Given the description of an element on the screen output the (x, y) to click on. 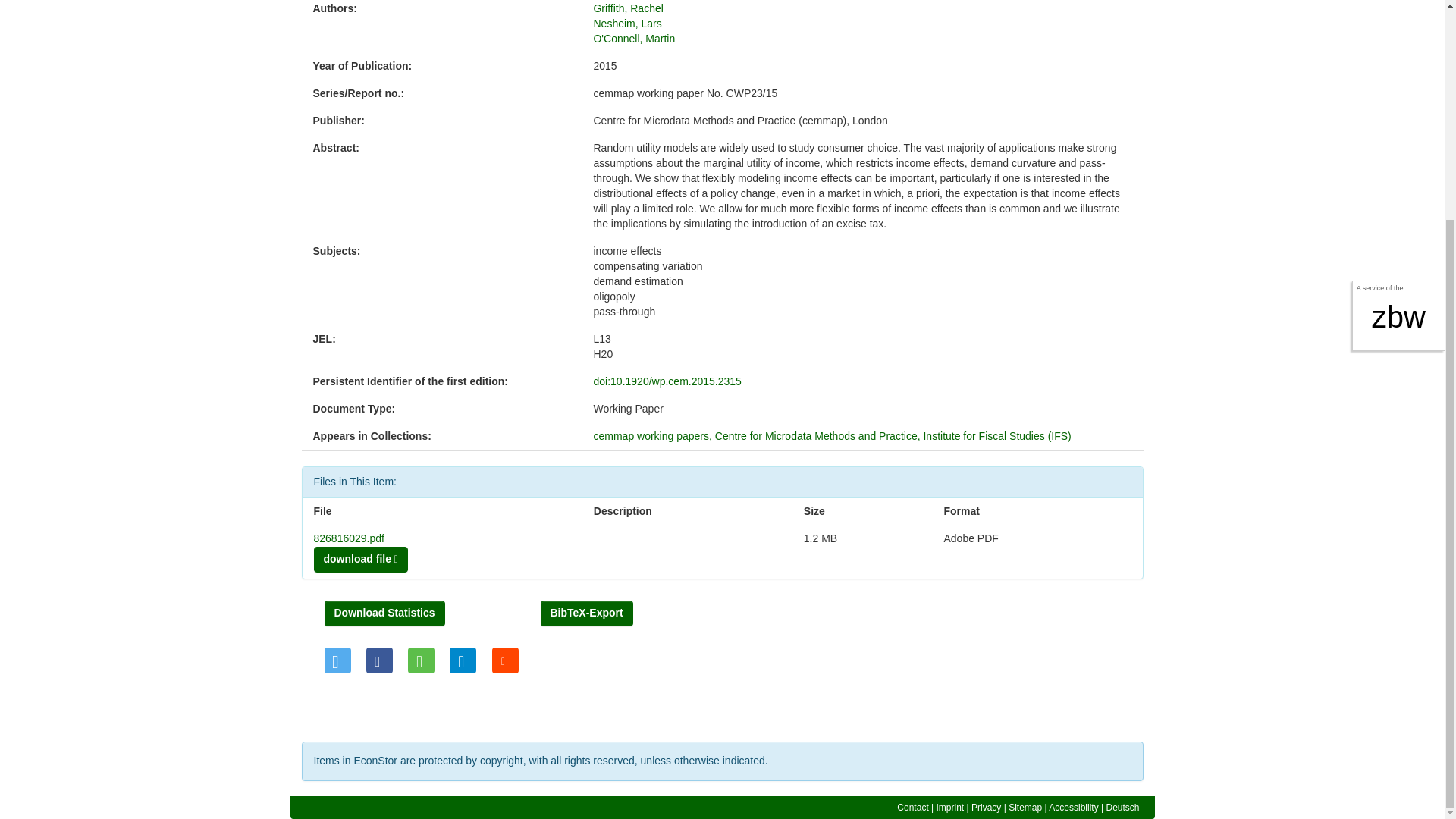
Bei Telegram teilen (462, 660)
Bei Reddit teilen (505, 660)
zbw (1398, 25)
Bei Whatsapp teilen (420, 660)
Bei Twitter teilen (337, 660)
Bei Facebook teilen (379, 660)
